Given the description of an element on the screen output the (x, y) to click on. 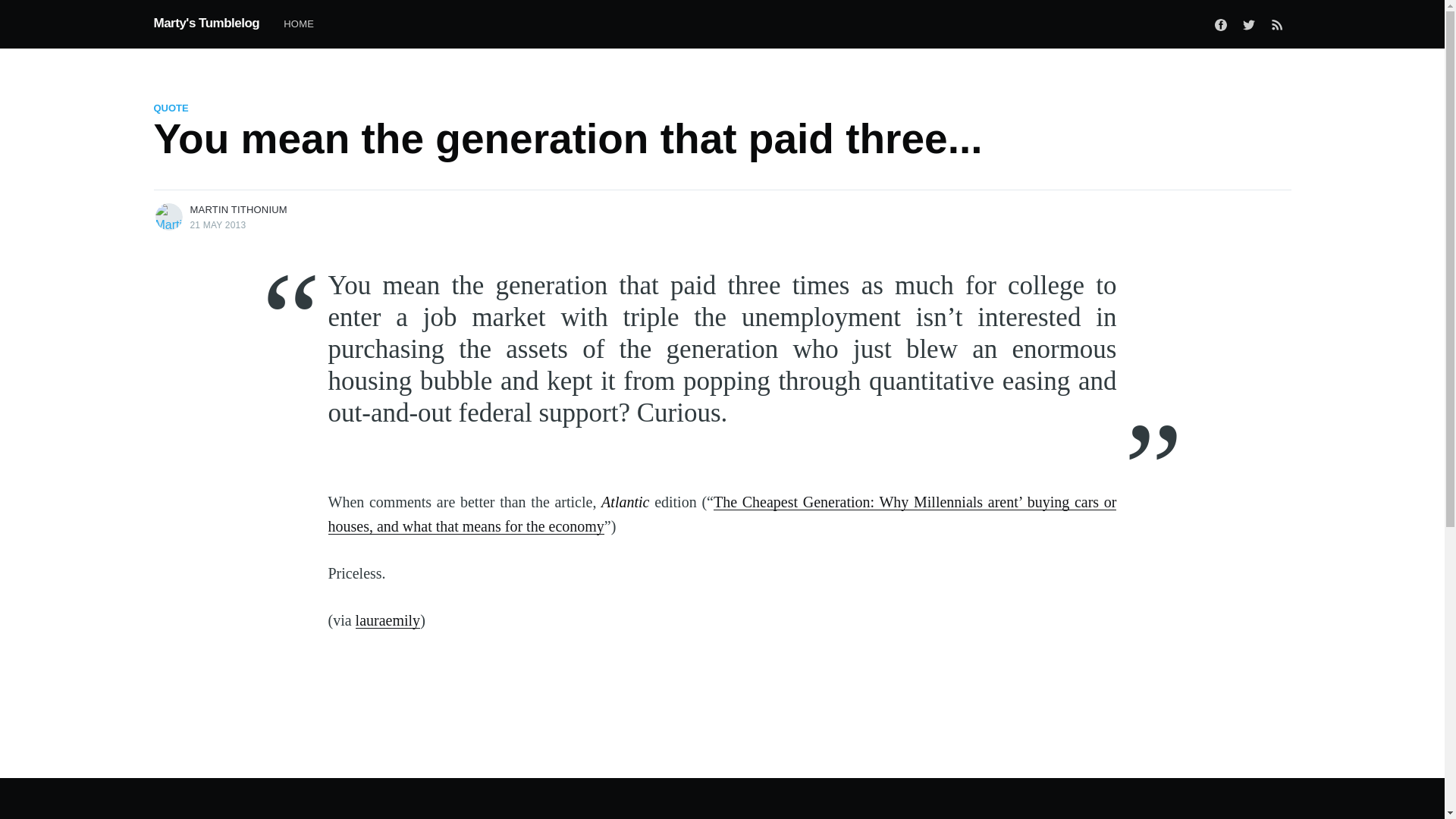
RSS Element type: hover (1277, 23)
lauraemily Element type: text (387, 619)
MARTIN TITHONIUM Element type: text (237, 209)
Marty's Tumblelog Element type: text (206, 23)
HOME Element type: text (298, 24)
Facebook Element type: hover (1220, 23)
QUOTE Element type: text (170, 108)
Twitter Element type: hover (1248, 23)
